Given the description of an element on the screen output the (x, y) to click on. 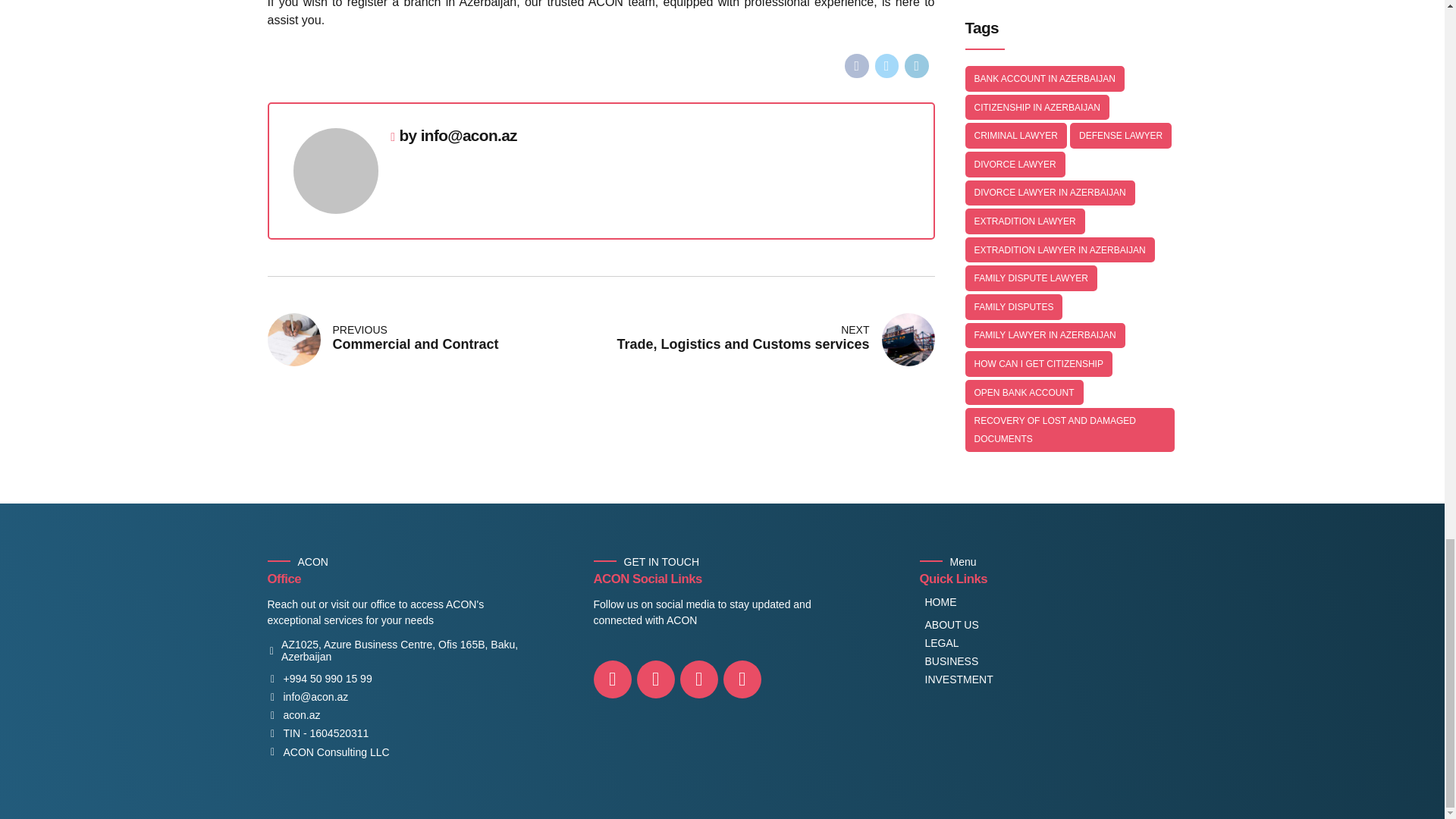
Share on Twitter (887, 65)
Share on Linkedin (916, 65)
acon.az (293, 715)
Share on Facebook (856, 65)
